Given the description of an element on the screen output the (x, y) to click on. 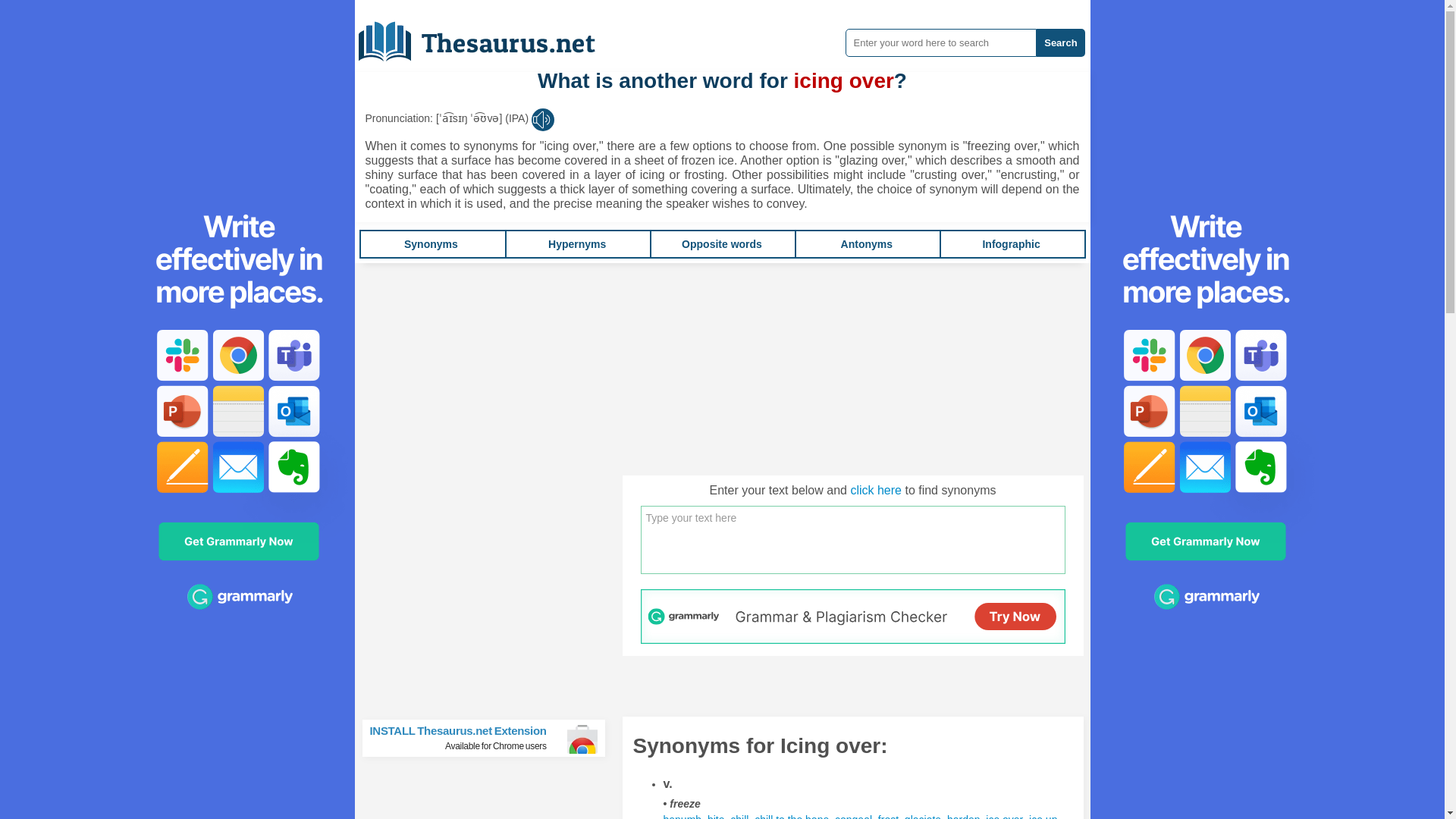
Synonyms for Icing over (791, 816)
click here (875, 490)
Synonyms for Icing over (1043, 816)
harden (963, 816)
bite (716, 816)
Antonyms (866, 244)
Hypernyms (576, 244)
frost (887, 816)
Synonyms for Icing over (1004, 816)
ice over (1004, 816)
